Given the description of an element on the screen output the (x, y) to click on. 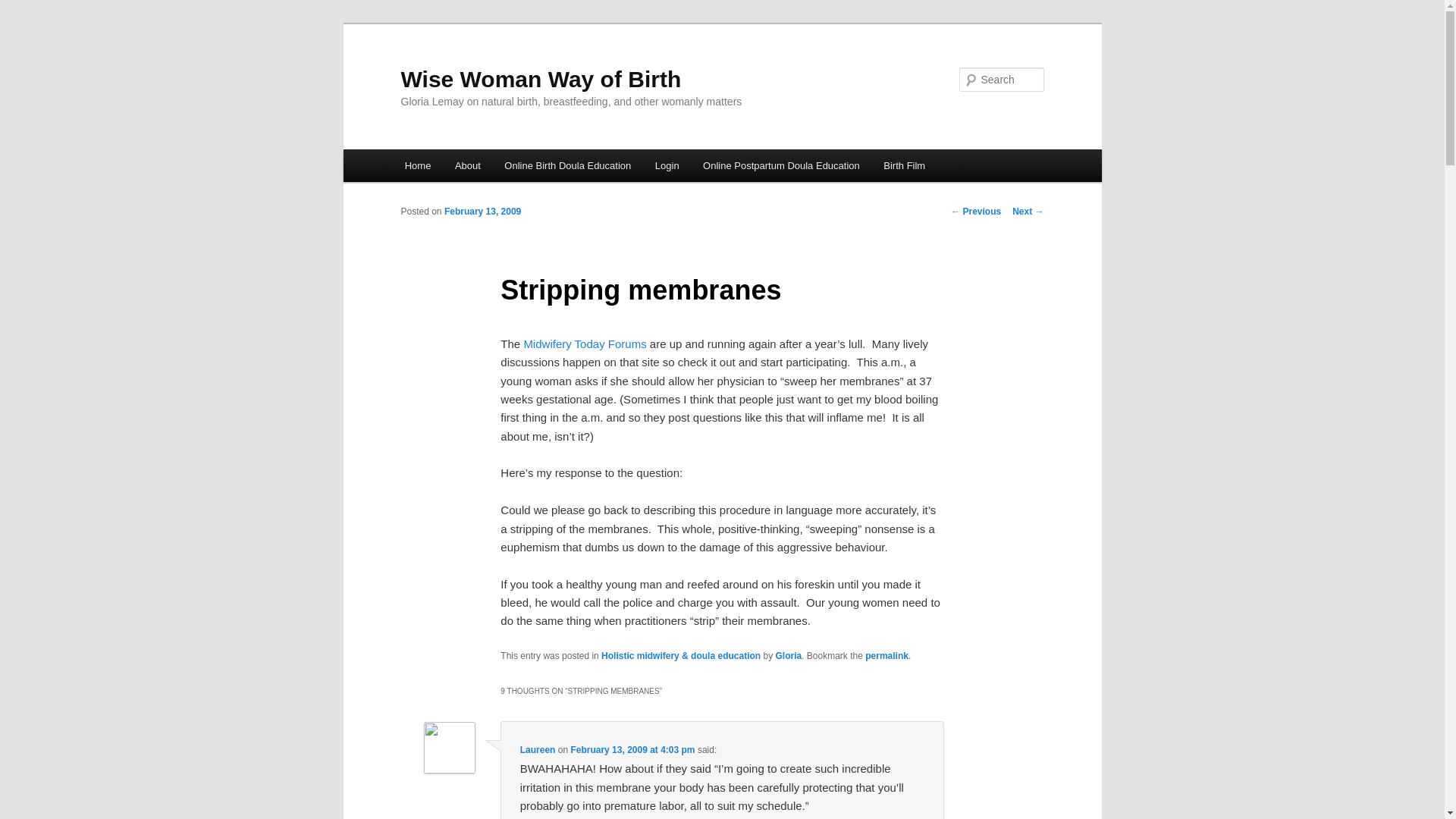
3:41 pm (482, 211)
Midwifery Today Forums (584, 343)
Wise Woman Way of Birth (540, 78)
February 13, 2009 (482, 211)
Laureen (537, 749)
Login (666, 165)
permalink (886, 655)
About (467, 165)
Gloria (788, 655)
